Given the description of an element on the screen output the (x, y) to click on. 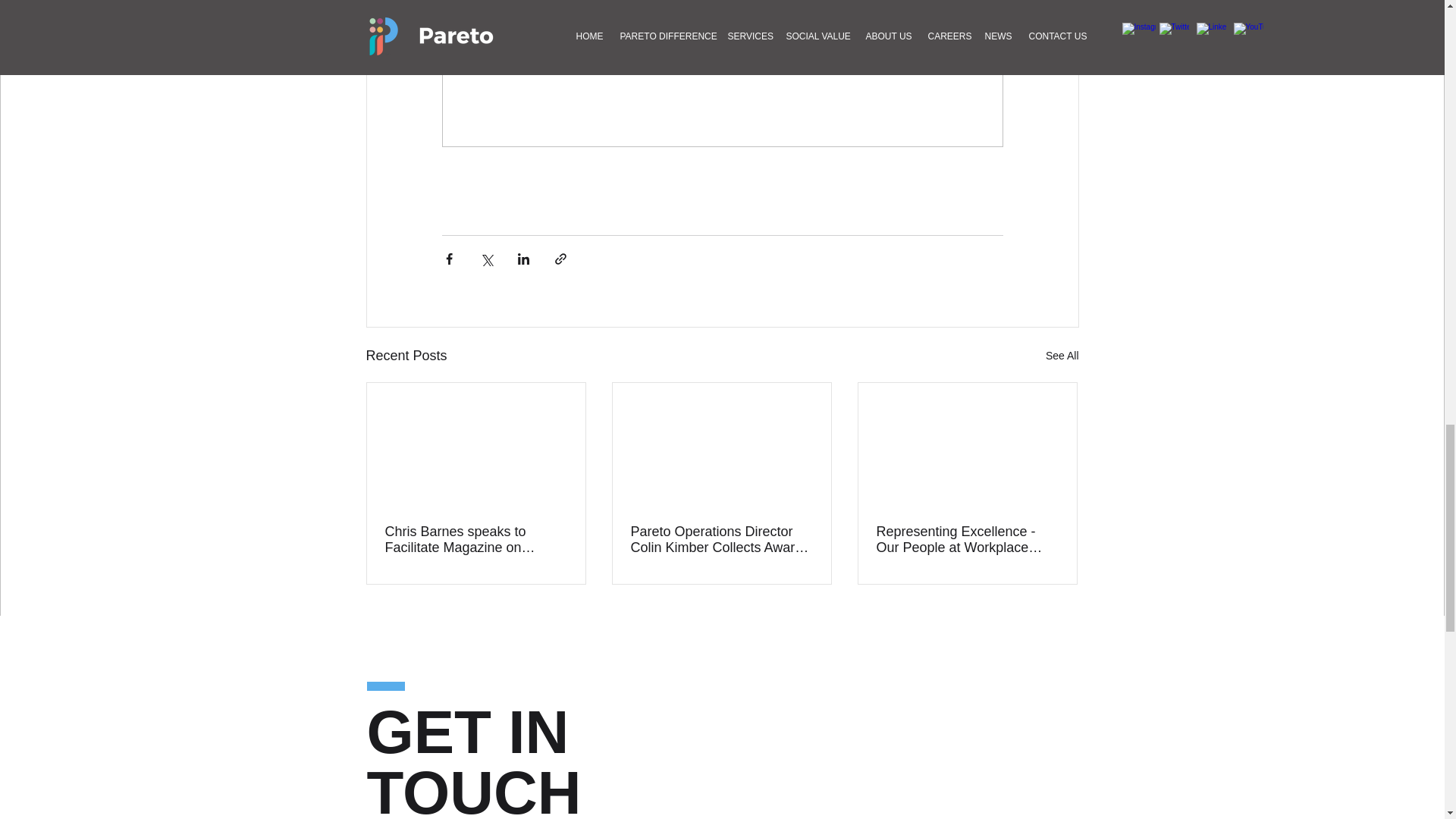
See All (1061, 355)
